Given the description of an element on the screen output the (x, y) to click on. 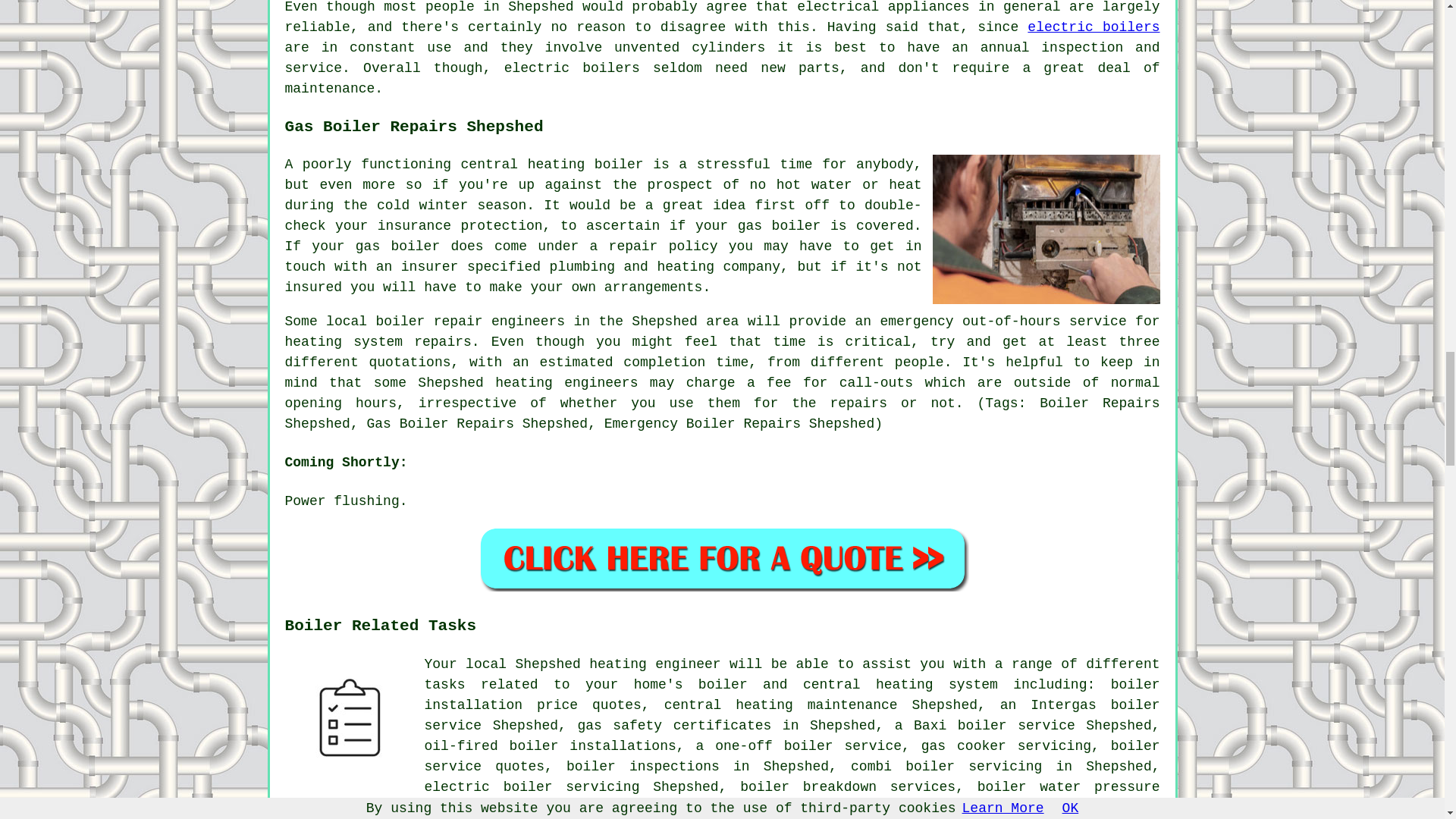
Book a Boiler Service in Shepshed Leicestershire (722, 558)
boiler maintenance (702, 807)
Boiler Related Tasks Shepshed (349, 718)
electric boiler servicing (532, 786)
